Given the description of an element on the screen output the (x, y) to click on. 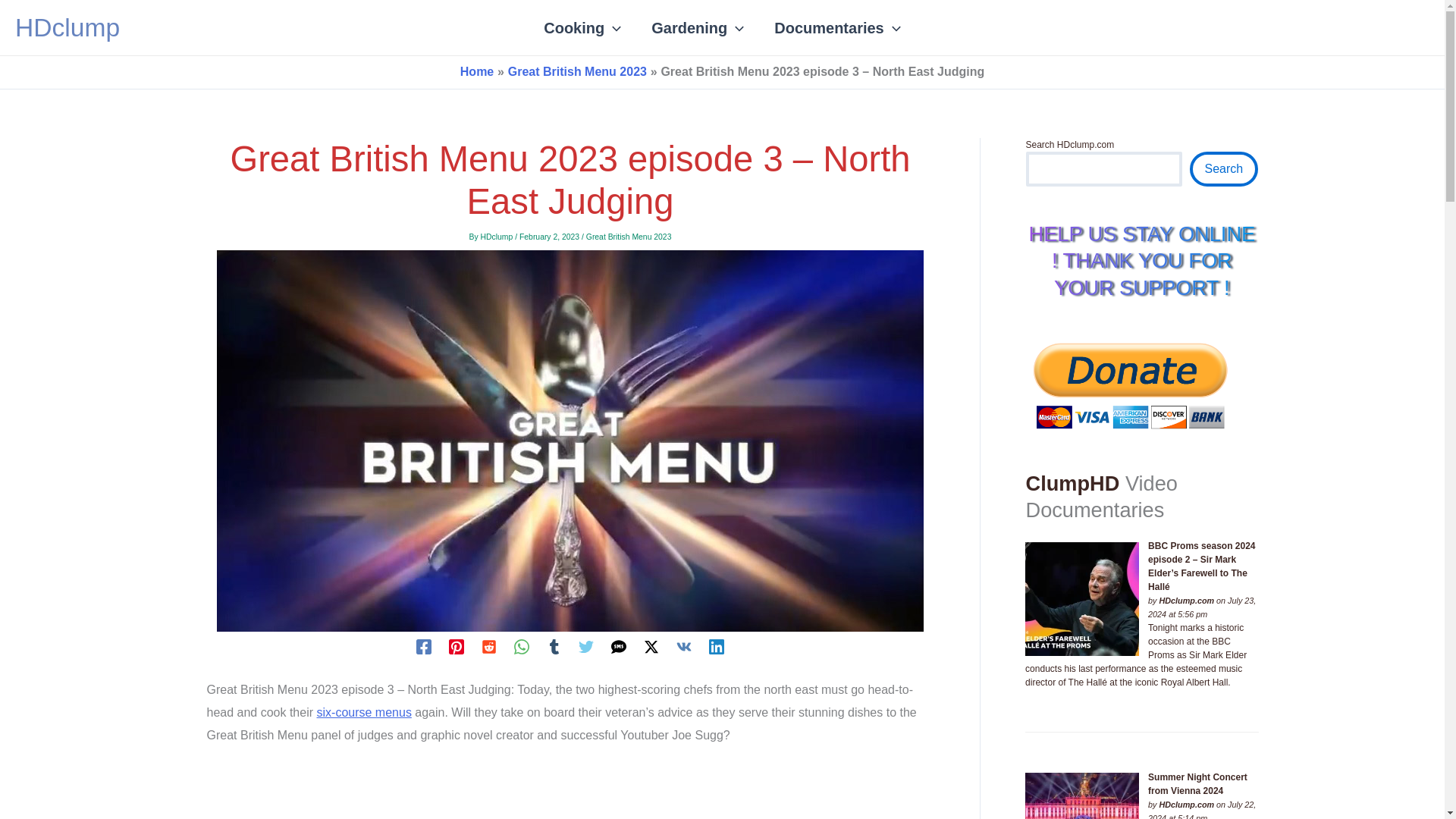
clumphd.com (1186, 600)
View all posts by HDclump (497, 236)
PayPal - The safer, easier way to pay online! (1129, 383)
Summer Night Concert from Vienna 2024 (1081, 796)
Cooking (582, 27)
HDclump (66, 27)
